Given the description of an element on the screen output the (x, y) to click on. 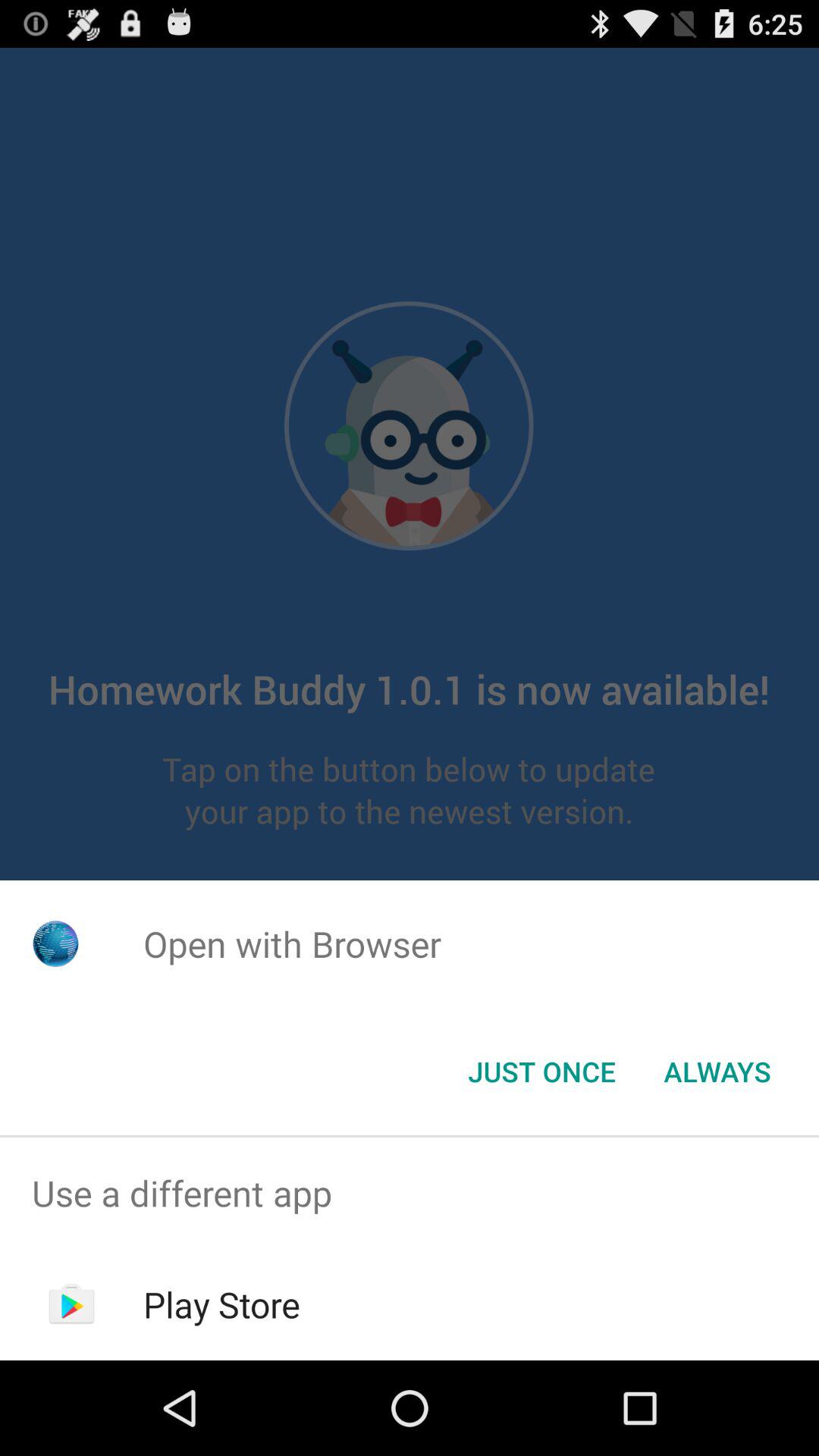
swipe until play store item (221, 1304)
